Given the description of an element on the screen output the (x, y) to click on. 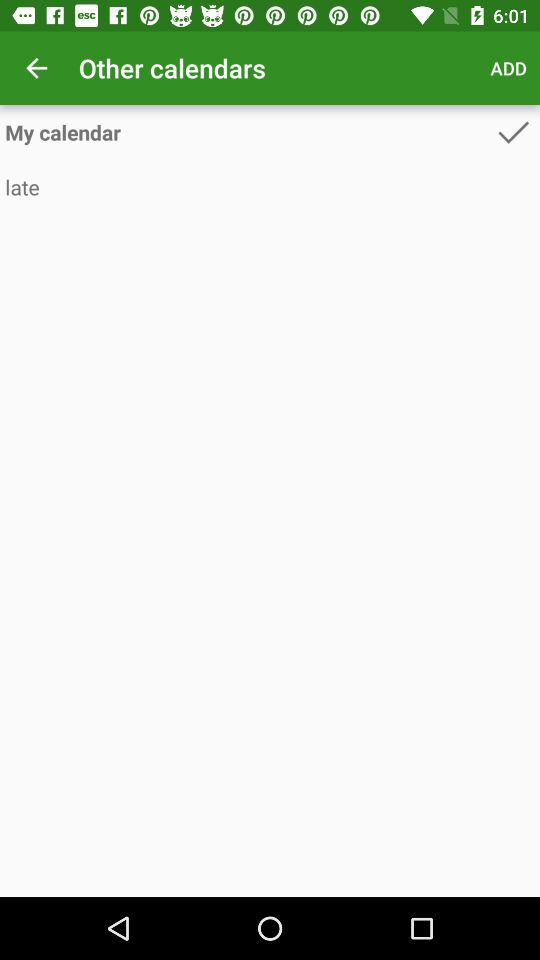
turn off the add icon (508, 67)
